Given the description of an element on the screen output the (x, y) to click on. 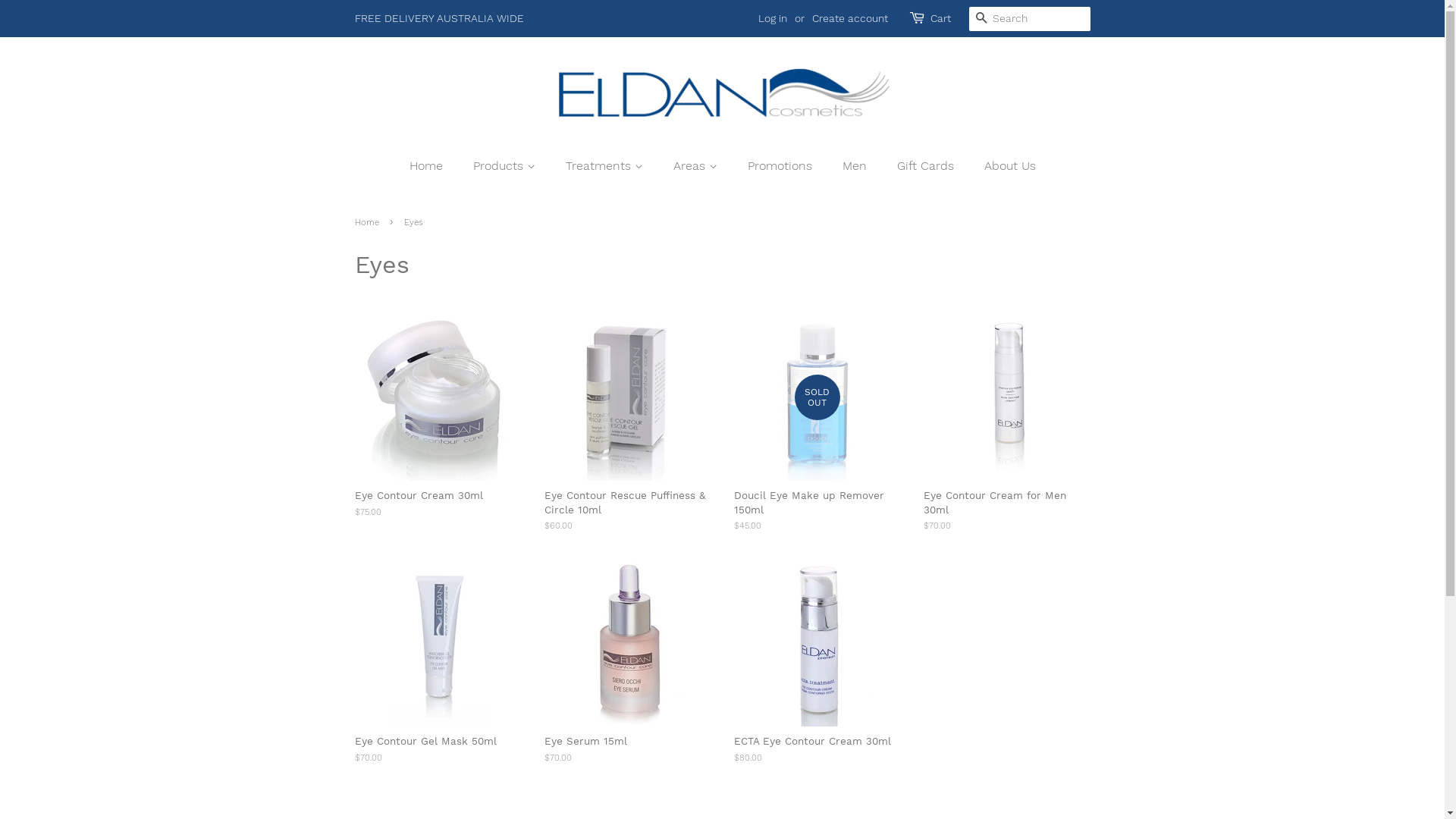
Products Element type: text (505, 165)
Eye Contour Cream 30ml
Regular price
$75.00 Element type: text (437, 429)
About Us Element type: text (1003, 165)
Home Element type: text (368, 222)
Log in Element type: text (772, 18)
Promotions Element type: text (780, 165)
Cart Element type: text (939, 18)
Eye Contour Cream for Men 30ml
Regular price
$70.00 Element type: text (1006, 436)
ECTA Eye Contour Cream 30ml
Regular price
$80.00 Element type: text (817, 675)
Home Element type: text (433, 165)
Treatments Element type: text (605, 165)
Men Element type: text (856, 165)
Search Element type: text (981, 18)
Eye Serum 15ml
Regular price
$70.00 Element type: text (627, 675)
Eye Contour Gel Mask 50ml
Regular price
$70.00 Element type: text (437, 675)
Areas Element type: text (696, 165)
Gift Cards Element type: text (927, 165)
Create account Element type: text (849, 18)
FREE DELIVERY AUSTRALIA WIDE Element type: text (439, 18)
